Given the description of an element on the screen output the (x, y) to click on. 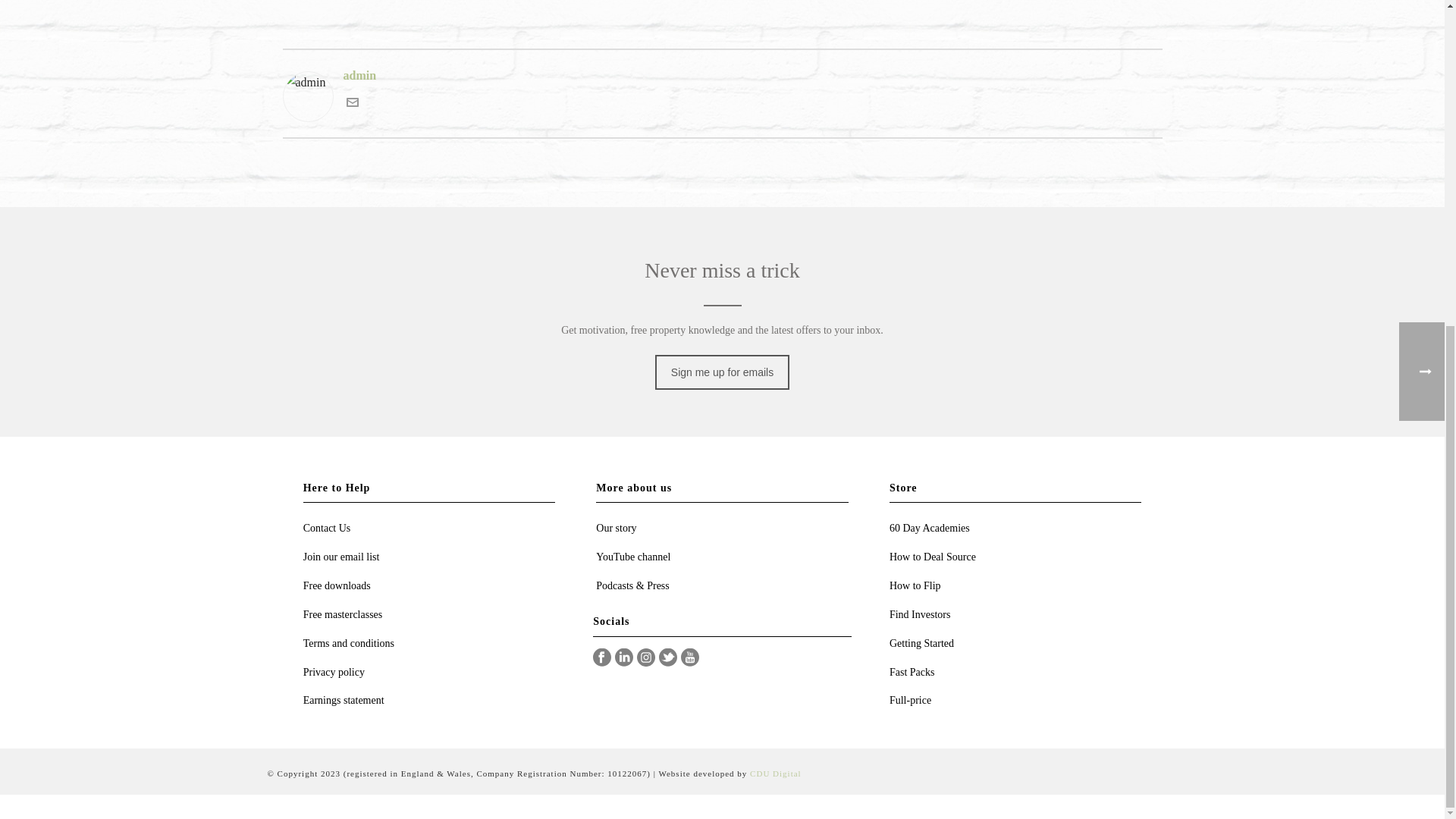
 facebook (601, 658)
 instagram (646, 658)
 twitter (668, 658)
 linkedin (623, 658)
Get in touch with me via email (352, 103)
